Given the description of an element on the screen output the (x, y) to click on. 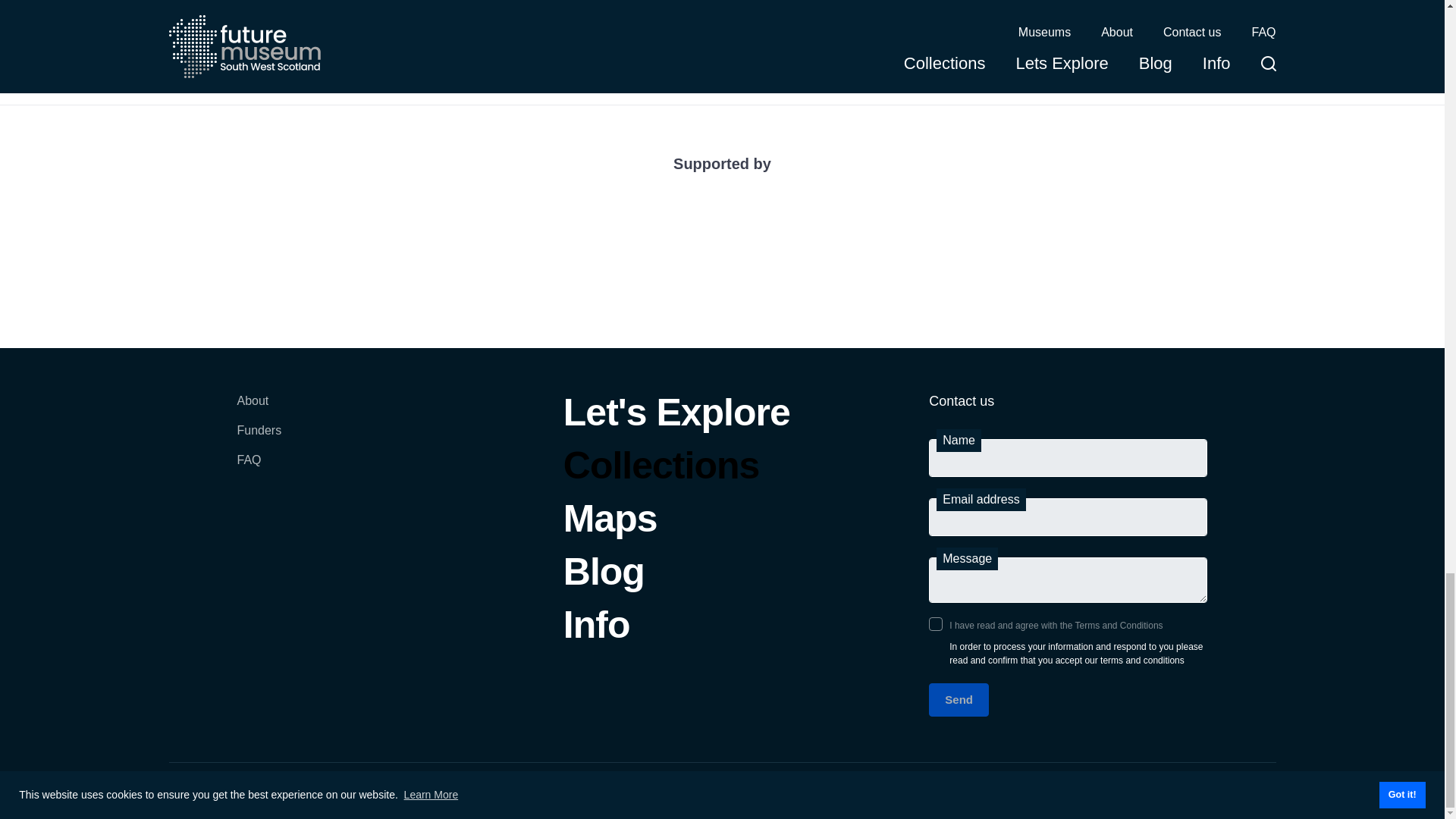
1 (935, 623)
Loch Ochiltree (581, 14)
Village - Stained Glass Window Study (300, 14)
